Given the description of an element on the screen output the (x, y) to click on. 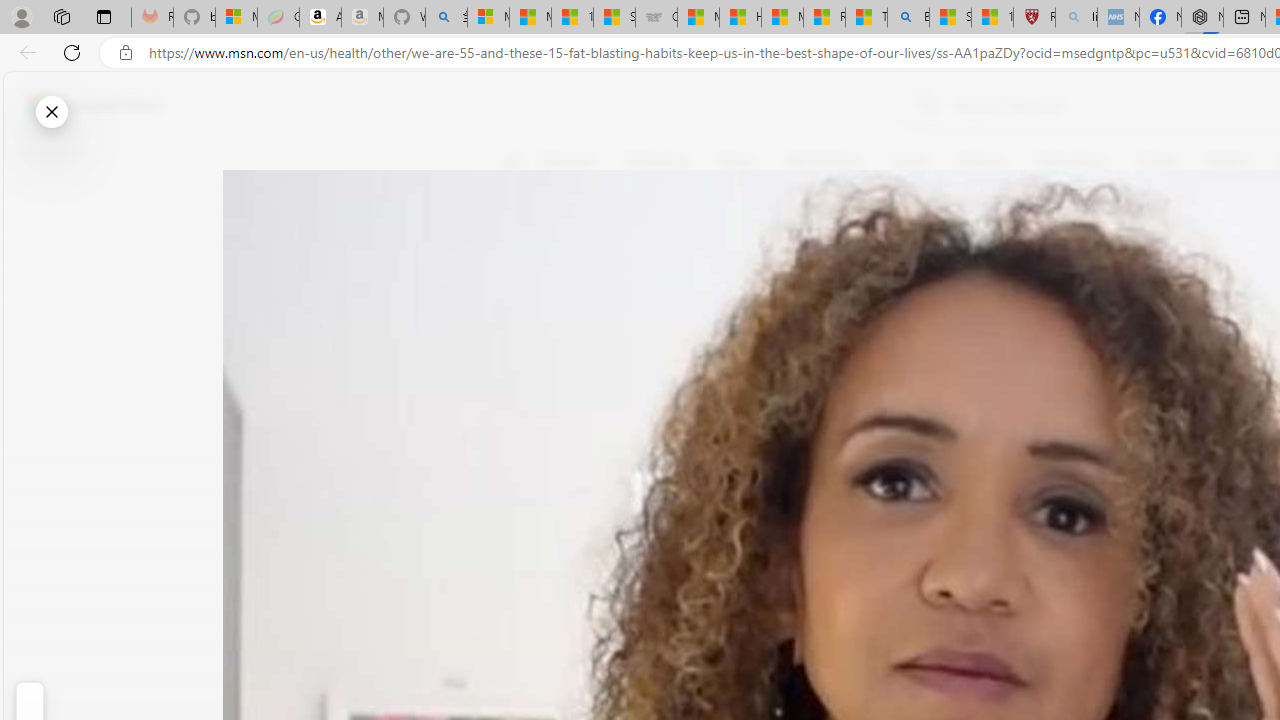
News (738, 162)
How I Got Rid of Microsoft Edge's Unnecessary Features (740, 17)
Skip to footer (82, 105)
Open navigation menu (513, 162)
Local (910, 162)
Technology (1071, 162)
World News (824, 162)
Crime (1156, 162)
Stocks - MSN (613, 17)
